Given the description of an element on the screen output the (x, y) to click on. 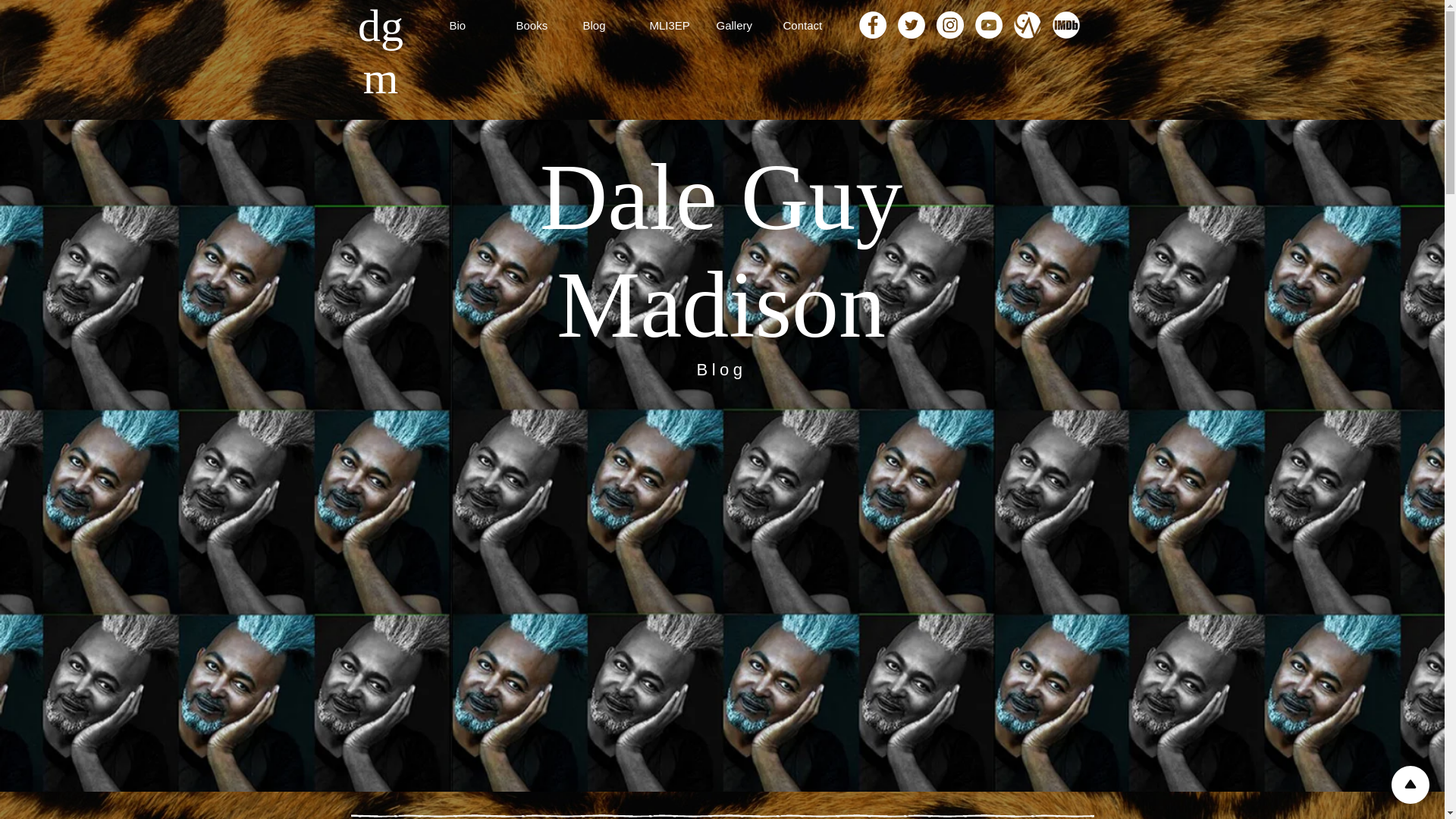
Contact (807, 25)
Books (541, 25)
Gallery (740, 25)
Bio (474, 25)
MLI3EP (674, 25)
Blog (608, 25)
